Given the description of an element on the screen output the (x, y) to click on. 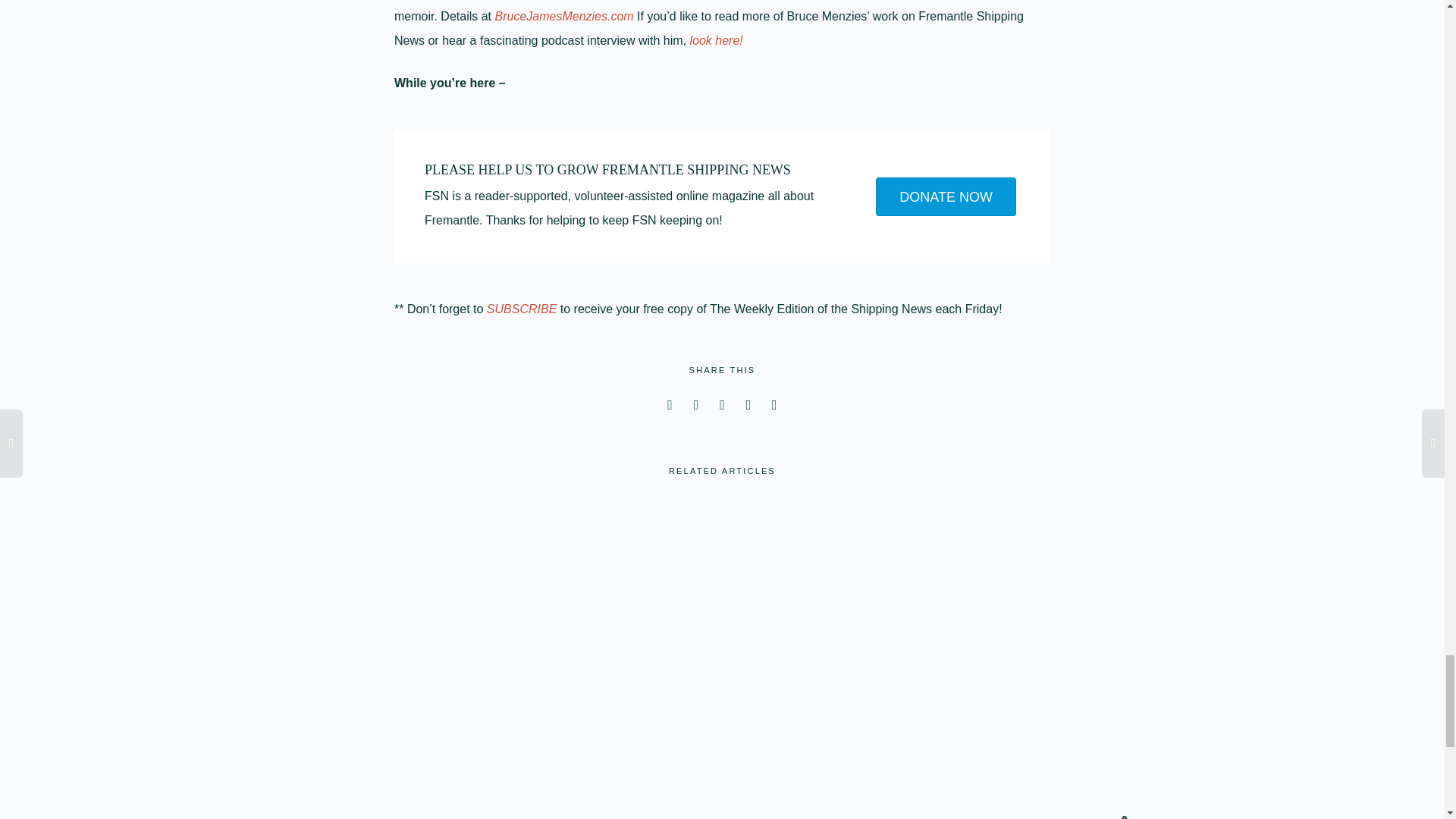
BruceJamesMenzies.com (564, 15)
look here! (716, 40)
DONATE NOW (946, 196)
SUBSCRIBE (523, 308)
